Given the description of an element on the screen output the (x, y) to click on. 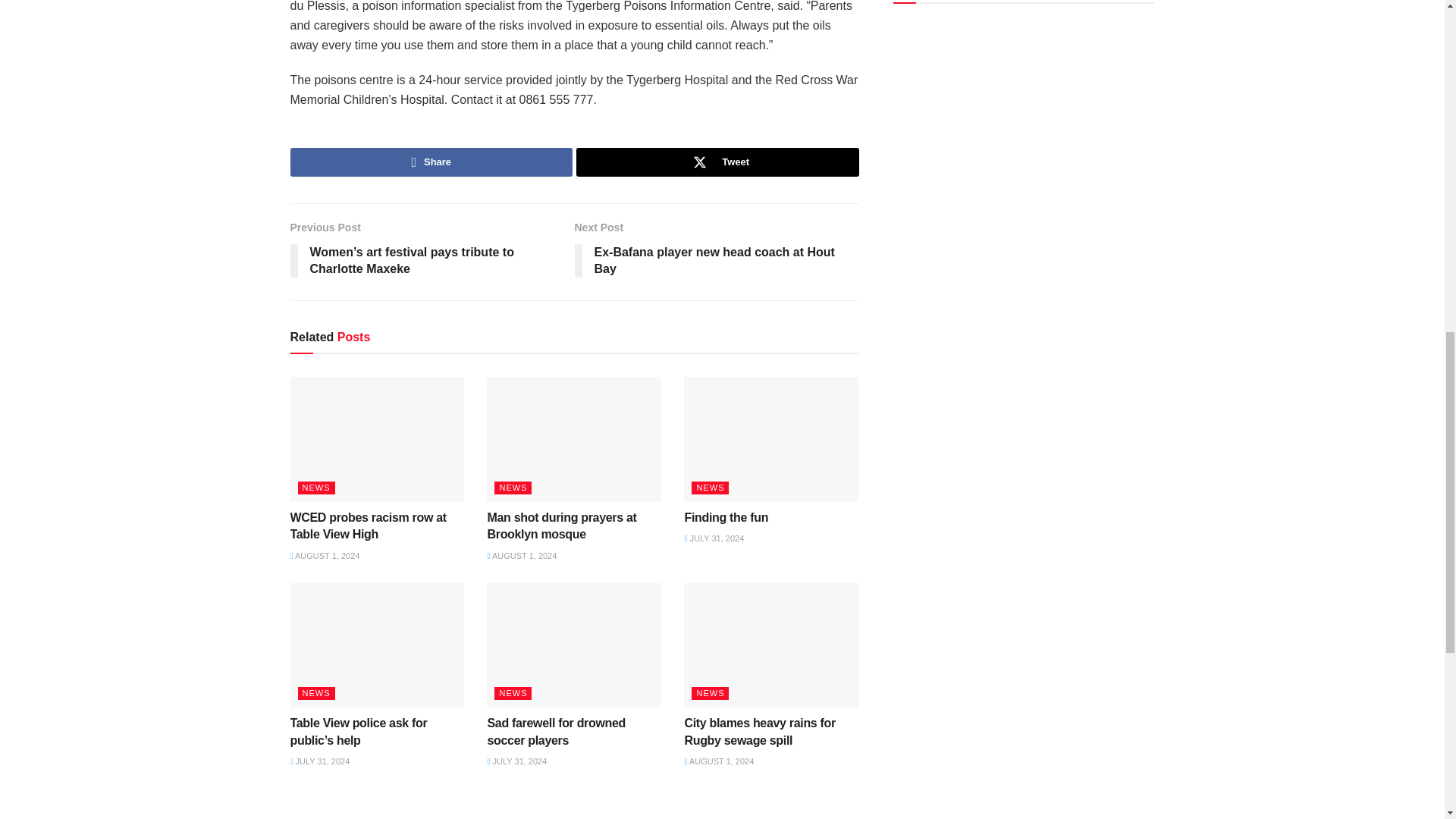
Tweet (717, 252)
Share (717, 162)
